Given the description of an element on the screen output the (x, y) to click on. 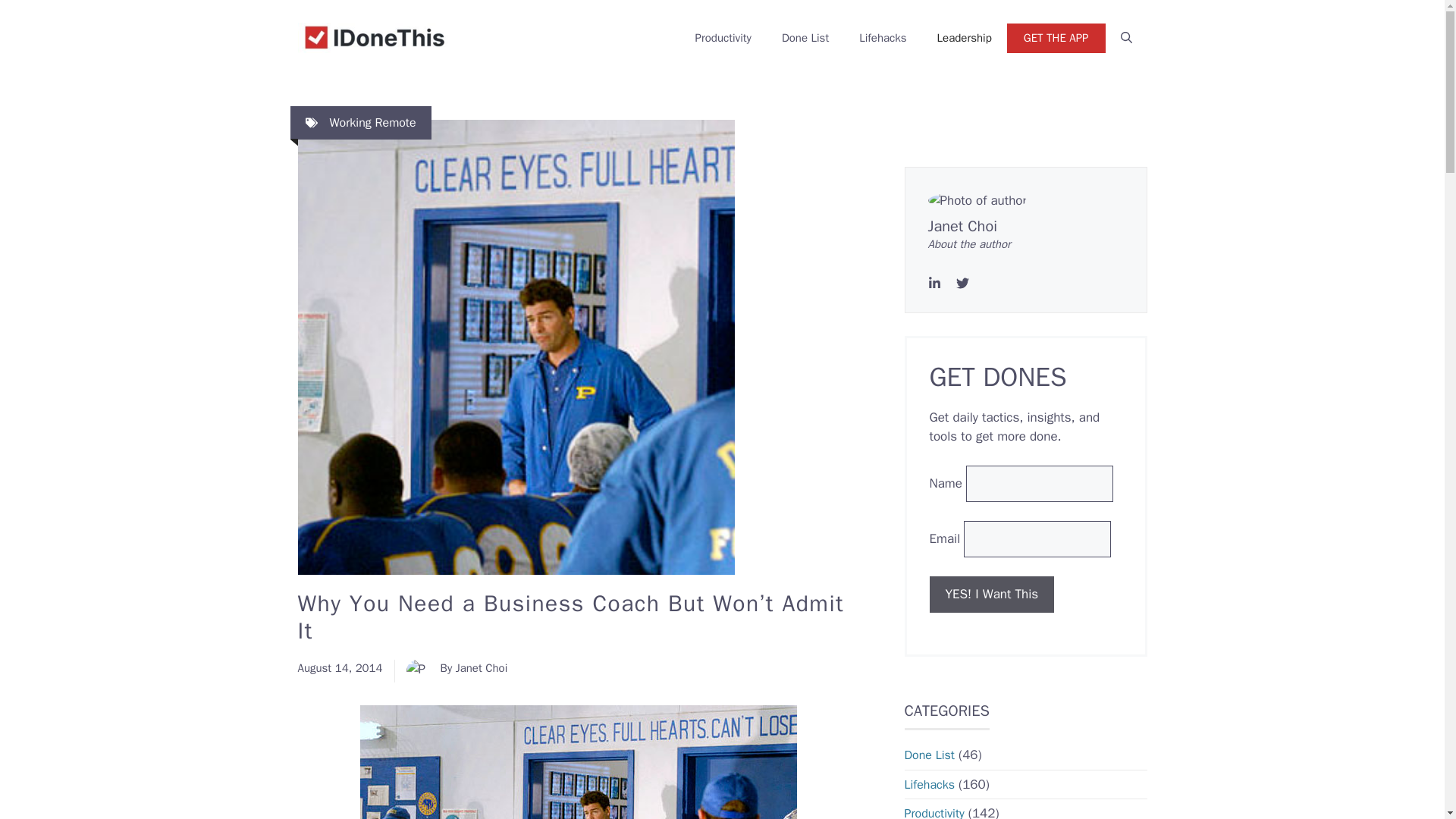
Done List (805, 37)
Leadership (964, 37)
YES! I Want This (992, 594)
Working Remote (371, 122)
Lifehacks (882, 37)
GET THE APP (1056, 37)
Productivity (723, 37)
YES! I Want This (992, 594)
Done List (928, 754)
Lifehacks (928, 784)
Productivity (933, 812)
